Given the description of an element on the screen output the (x, y) to click on. 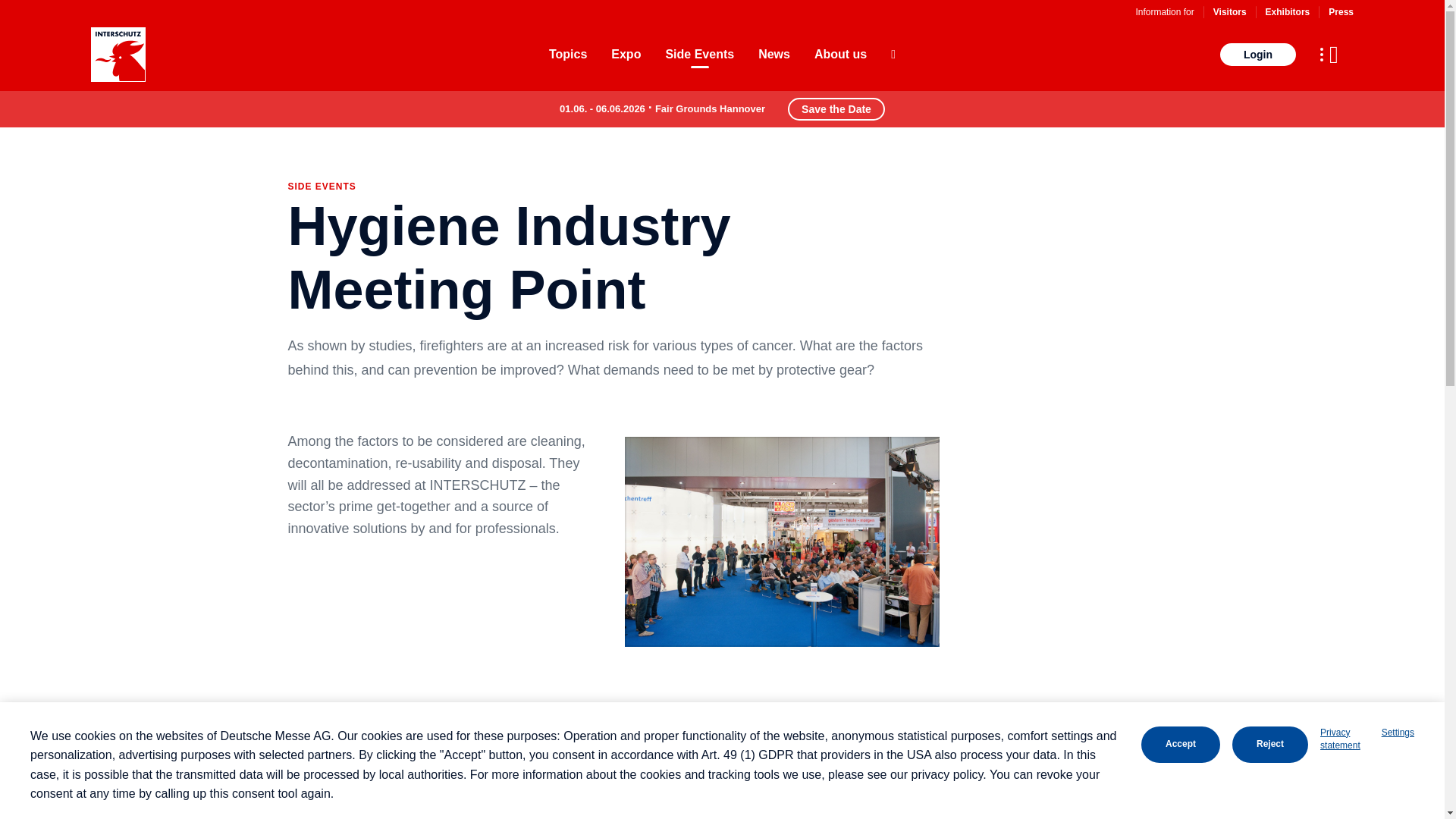
Exhibitors (1287, 11)
Login (1257, 54)
ver.di Feuerwehr (352, 815)
News (774, 54)
About us (839, 54)
Visitors (1229, 11)
Topics (567, 54)
Side Events (699, 54)
Expo (625, 54)
Save the Date (836, 108)
